Given the description of an element on the screen output the (x, y) to click on. 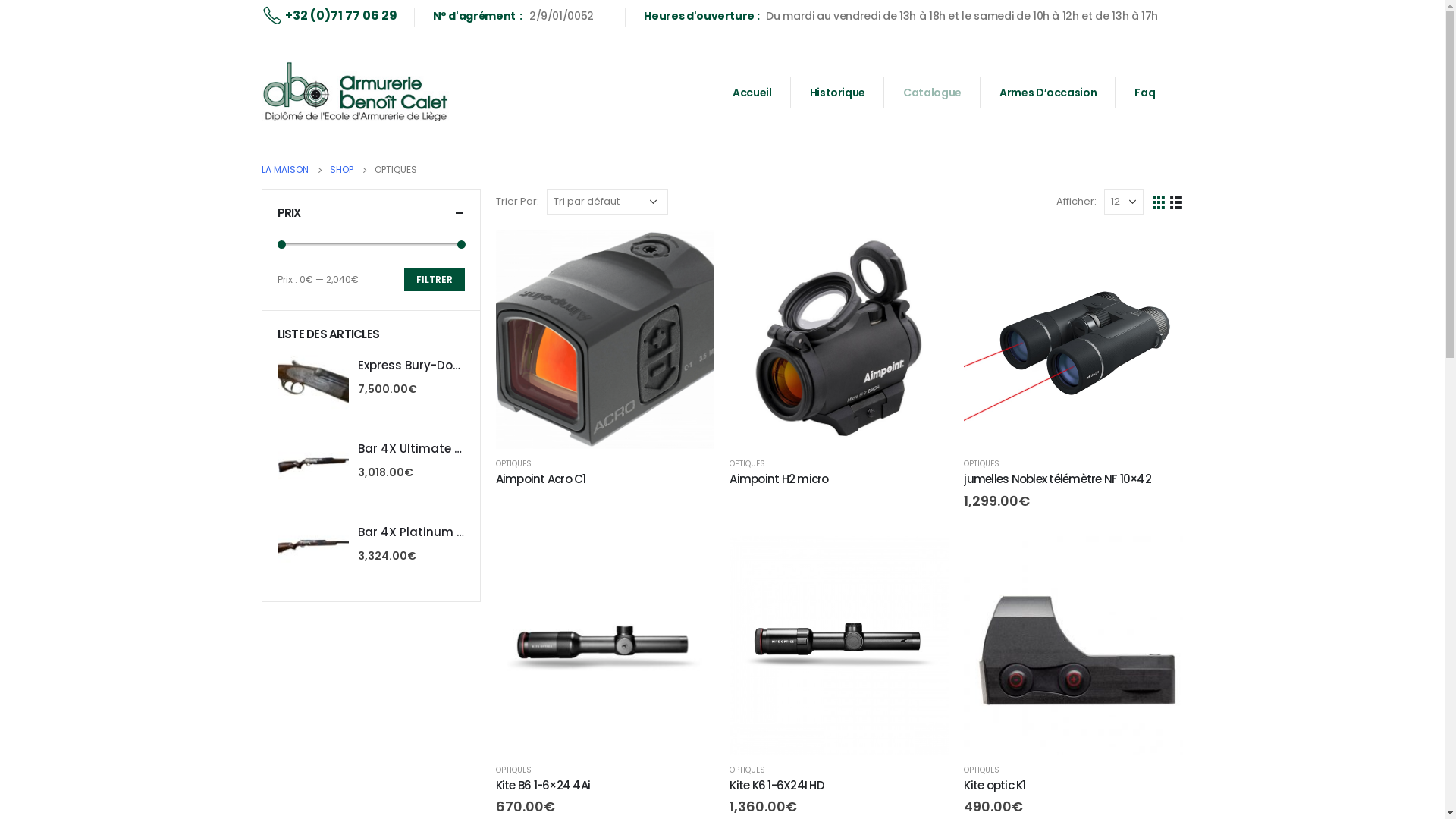
Faq Element type: text (1144, 92)
Bar 4X Ultimate 30-06*5332 Element type: hover (312, 460)
Aimpoint Acro C1 Element type: text (605, 478)
Aimpoint H2 micro Element type: text (838, 478)
Bar 4X Platinum 300WM*5337 Element type: hover (312, 544)
OPTIQUES Element type: text (981, 463)
Catalogue Element type: text (932, 92)
OPTIQUES Element type: text (747, 769)
OPTIQUES Element type: text (747, 463)
Historique Element type: text (837, 92)
Affichage De La Liste Element type: hover (1175, 201)
Express Bury-Donckier 9.3x74R Element type: hover (312, 377)
Kite optic K1 Element type: text (1073, 784)
SHOP Element type: text (340, 169)
FILTRER Element type: text (433, 279)
OPTIQUES Element type: text (513, 769)
Bar 4X Platinum 300WM*5337 Element type: text (411, 531)
Express Bury-Donckier 9.3x74R Element type: text (411, 365)
Bar 4X Ultimate 30-06*5332 Element type: text (411, 448)
Accueil Element type: text (752, 92)
+32 (0)71 77 06 29 Element type: text (329, 15)
Kite K6 1-6X24I HD Element type: text (838, 784)
OPTIQUES Element type: text (981, 769)
LA MAISON Element type: text (283, 169)
Affichage De La Grille Element type: hover (1158, 201)
OPTIQUES Element type: text (513, 463)
